Given the description of an element on the screen output the (x, y) to click on. 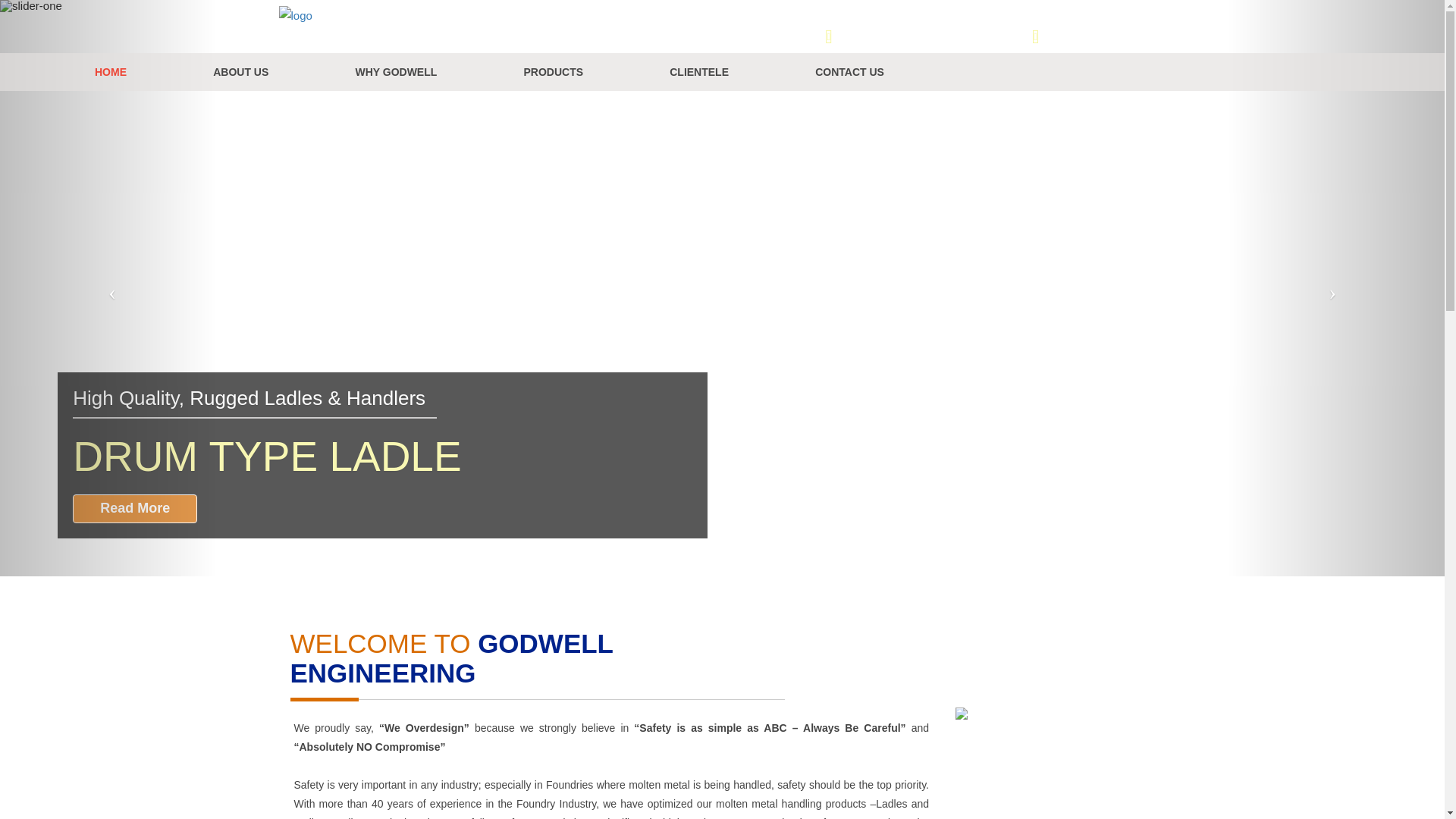
Contact Us (849, 71)
WHY GODWELL (396, 71)
PRODUCTS (552, 71)
Clientele (698, 71)
Home (110, 71)
CLIENTELE (698, 71)
HOME (110, 71)
CONTACT US (849, 71)
Products (552, 71)
Why Godwell (396, 71)
